Given the description of an element on the screen output the (x, y) to click on. 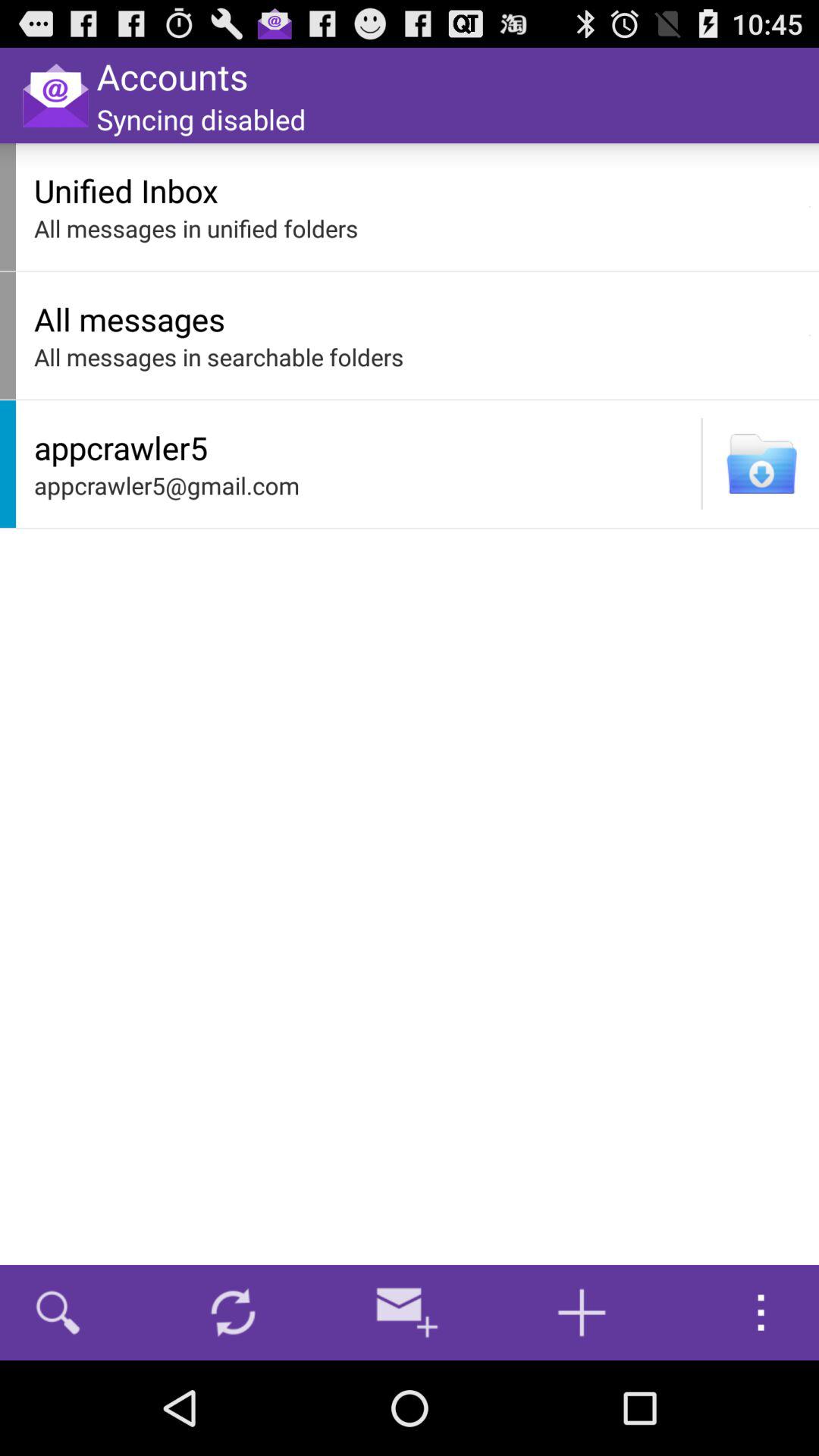
download (761, 463)
